Given the description of an element on the screen output the (x, y) to click on. 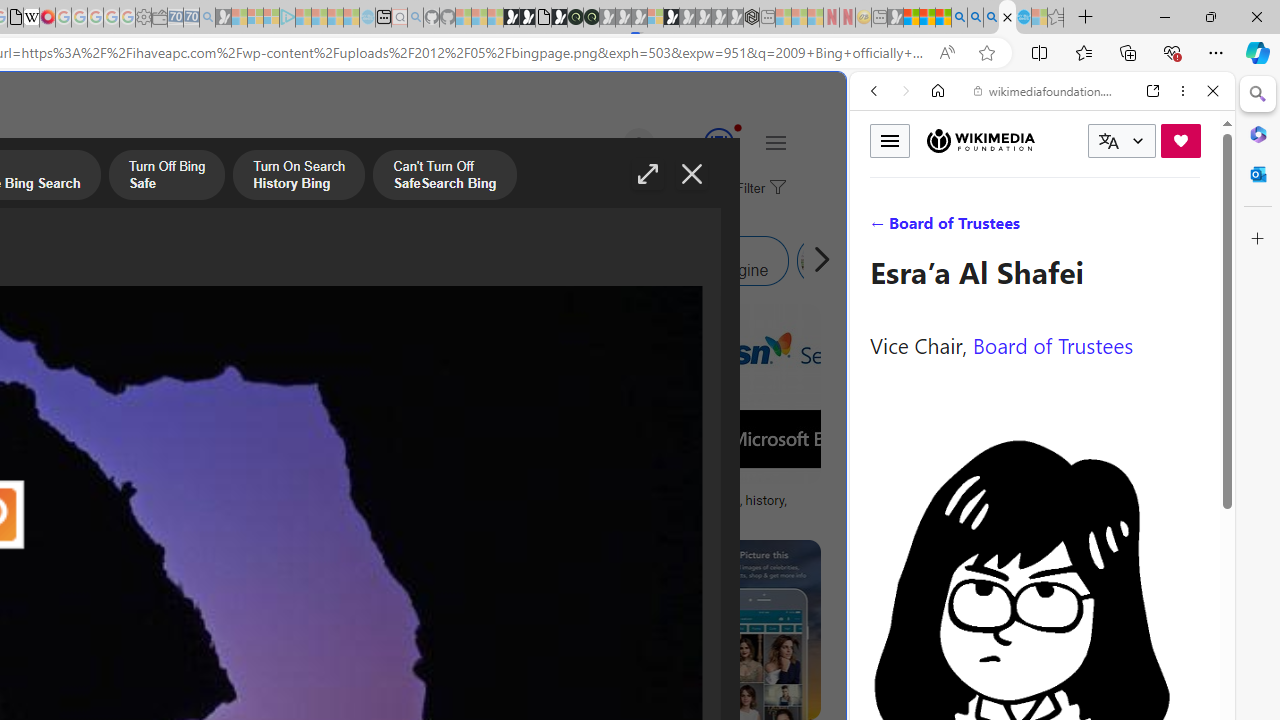
Tabs you've opened (276, 265)
Services - Maintenance | Sky Blue Bikes - Sky Blue Bikes (1023, 17)
Bing Real Estate - Home sales and rental listings - Sleeping (207, 17)
WEB   (882, 228)
Search or enter web address (343, 191)
Settings and quick links (775, 142)
Wallet - Sleeping (159, 17)
Search Filter, Search Tools (1093, 228)
AutomationID: serp_medal_svg (718, 142)
Scroll right (816, 260)
